Given the description of an element on the screen output the (x, y) to click on. 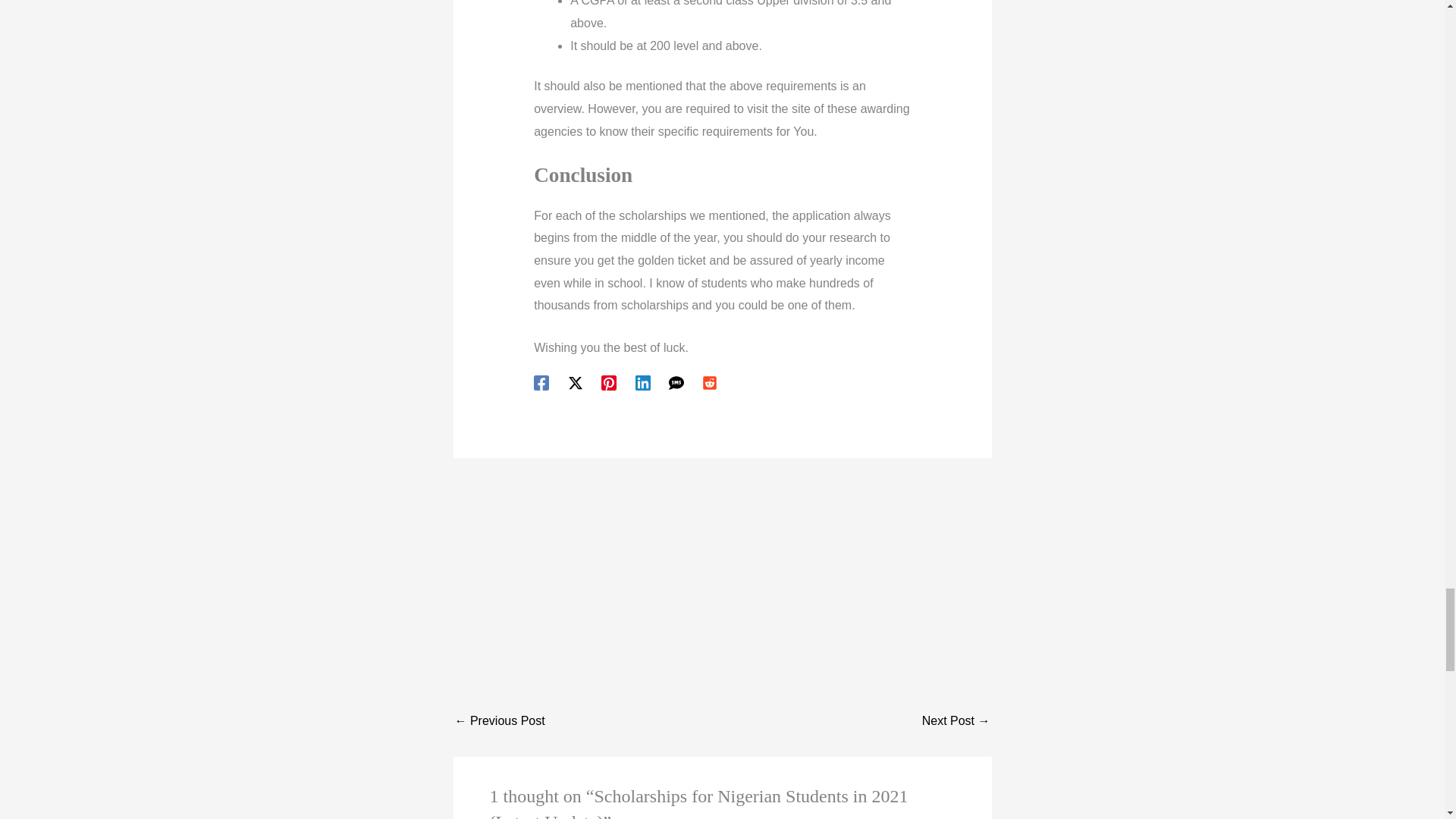
Ugliest People in the World (499, 720)
How To Get Chegg Answers For Free (955, 720)
